Given the description of an element on the screen output the (x, y) to click on. 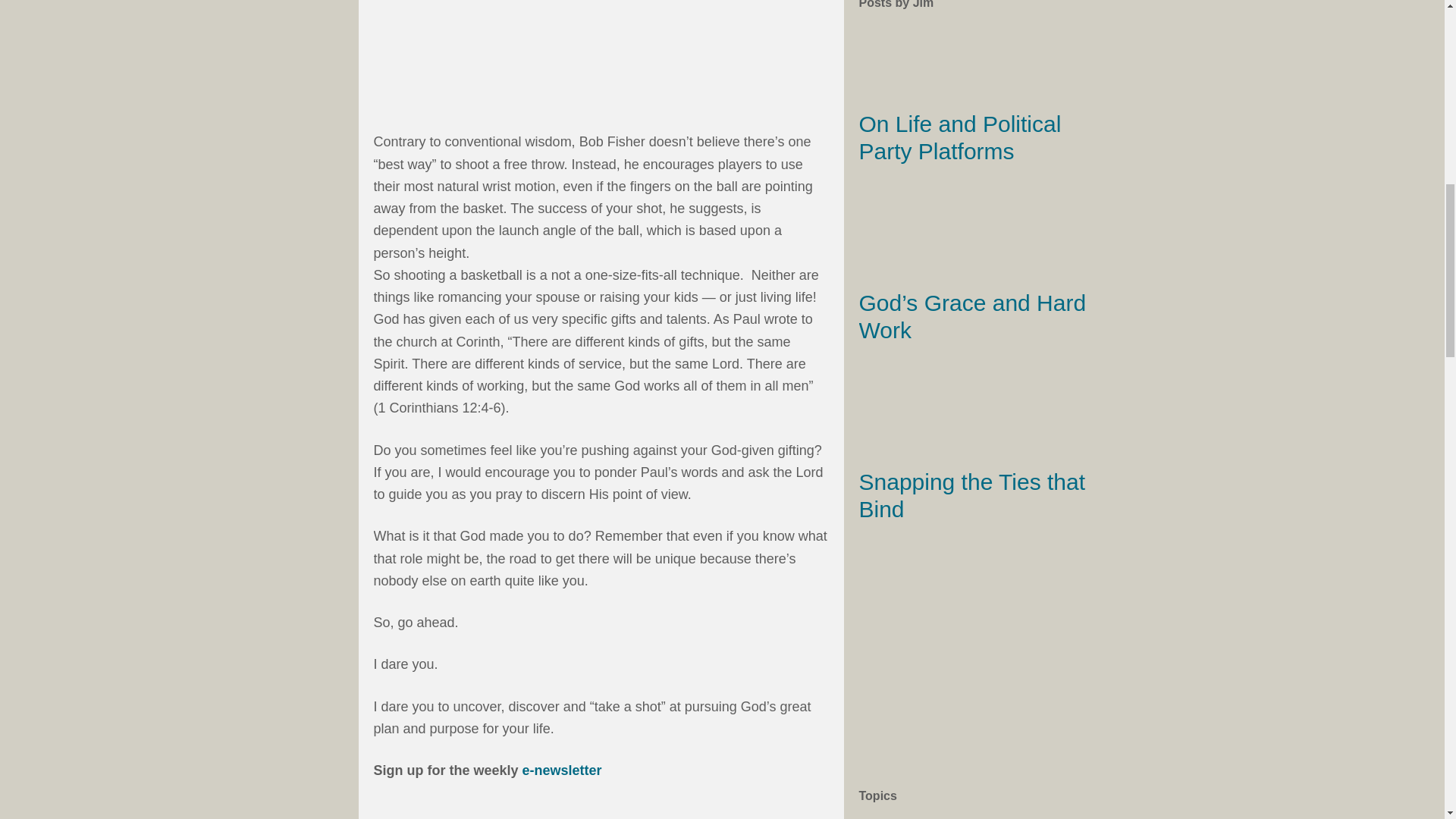
On Life and Political Party Platforms (960, 137)
e-newsletter (562, 770)
Snapping the Ties that Bind (971, 495)
